Given the description of an element on the screen output the (x, y) to click on. 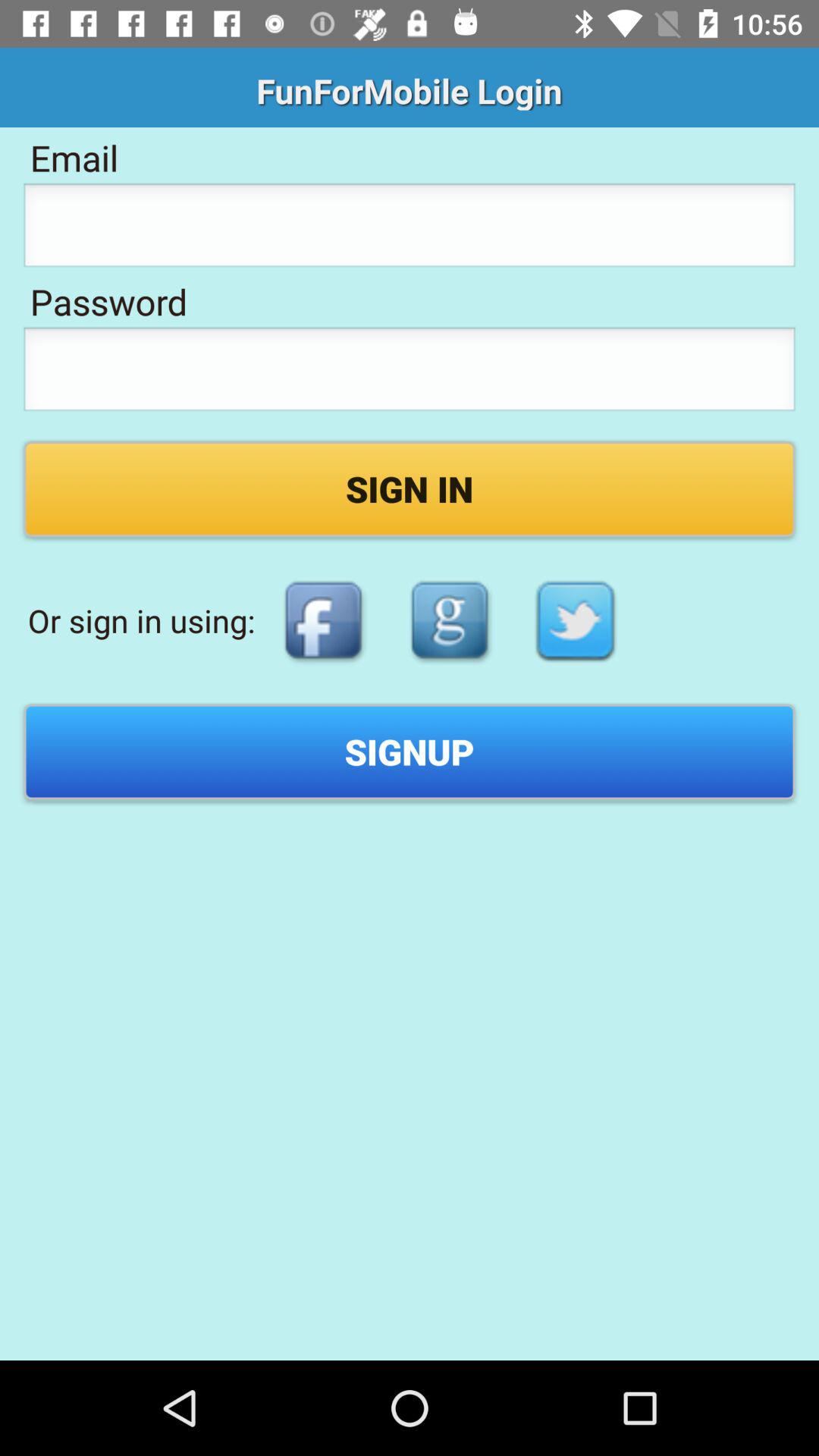
select the signup item (409, 751)
